Given the description of an element on the screen output the (x, y) to click on. 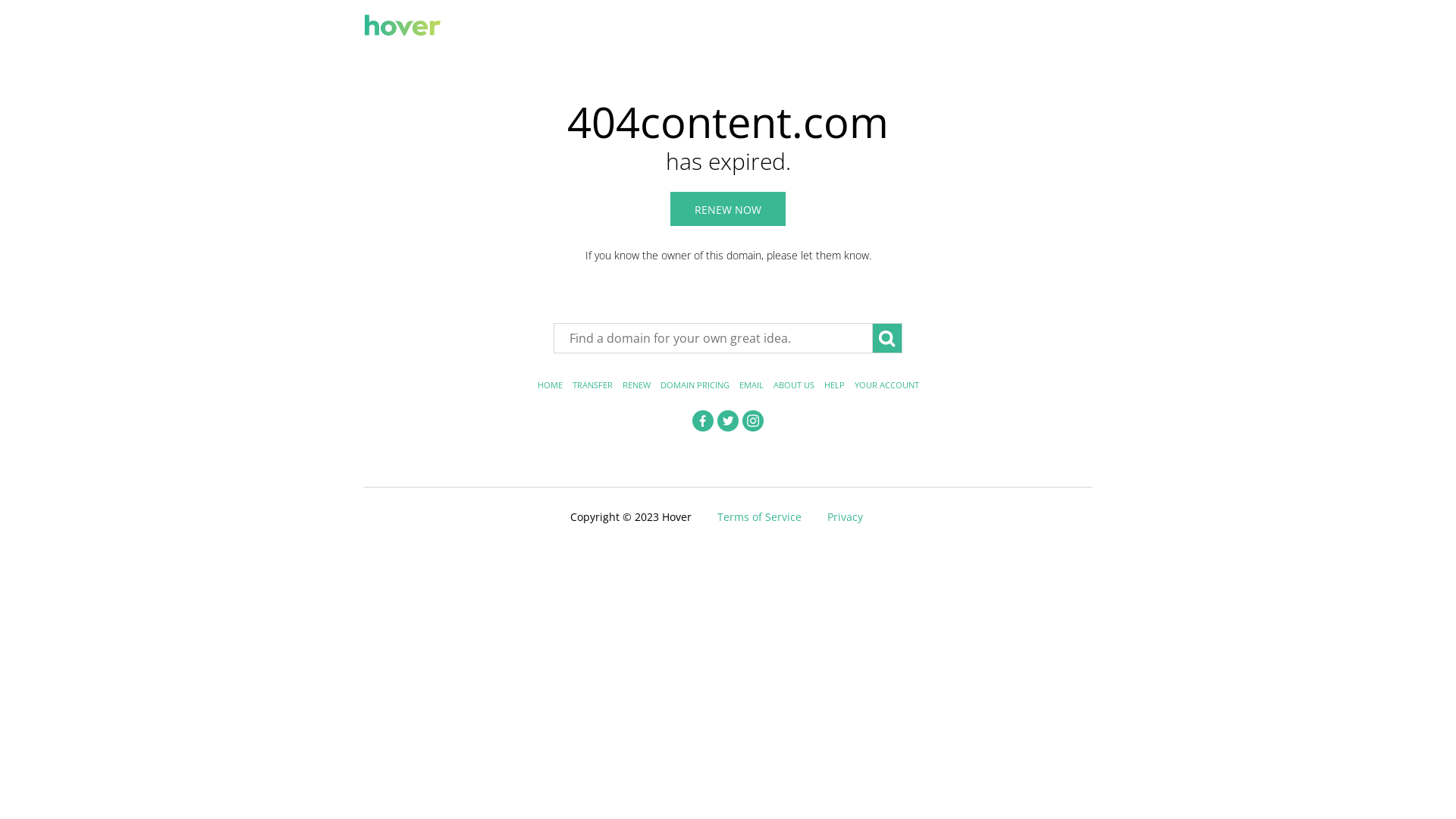
HELP Element type: text (833, 384)
TRANSFER Element type: text (591, 384)
Terms of Service Element type: text (759, 516)
HOME Element type: text (548, 384)
ABOUT US Element type: text (793, 384)
RENEW Element type: text (635, 384)
YOUR ACCOUNT Element type: text (885, 384)
EMAIL Element type: text (750, 384)
Privacy Element type: text (844, 516)
DOMAIN PRICING Element type: text (693, 384)
RENEW NOW Element type: text (727, 208)
